Given the description of an element on the screen output the (x, y) to click on. 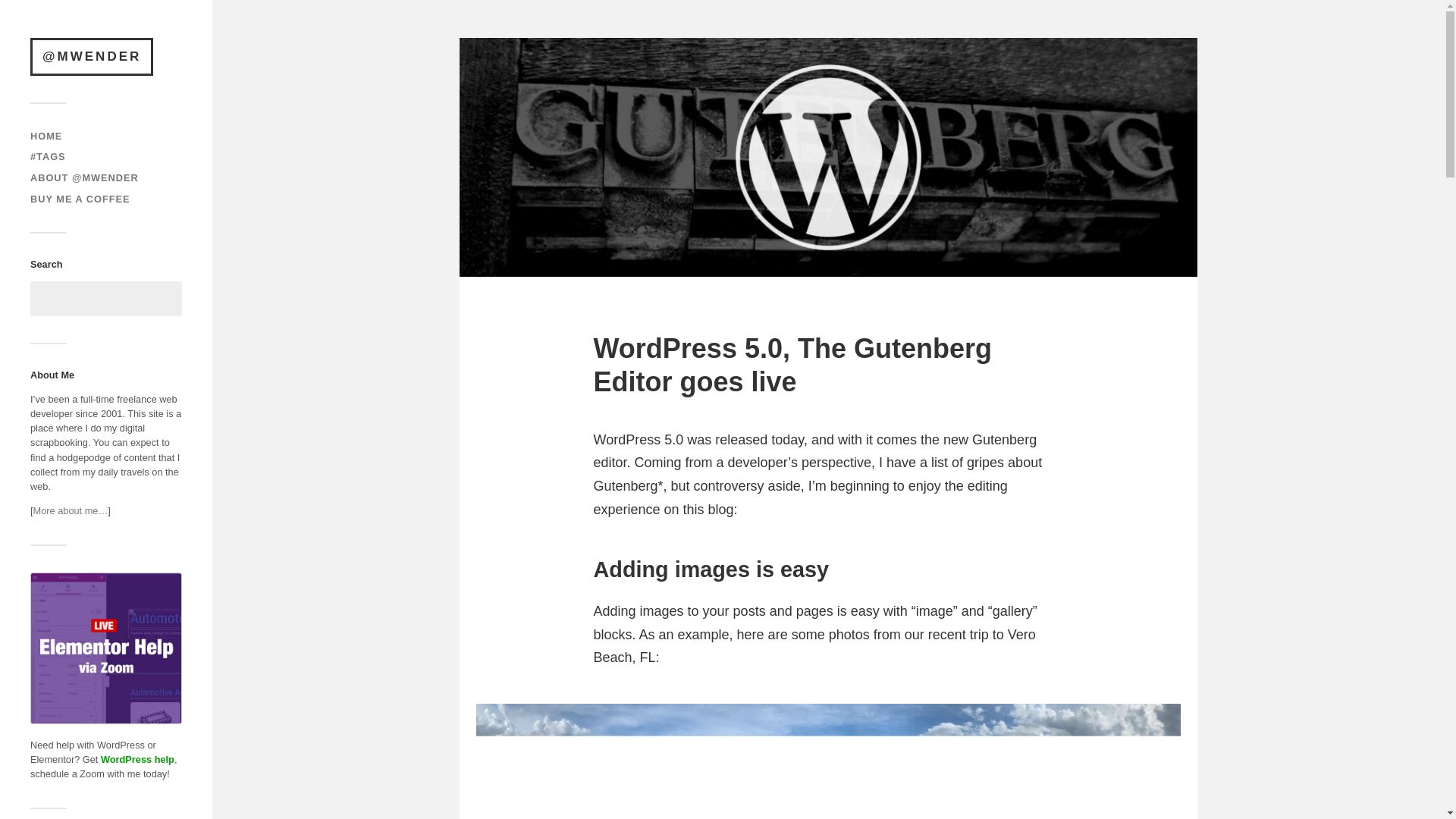
BUY ME A COFFEE (80, 198)
HOME (46, 135)
WordPress help (137, 758)
Search (163, 298)
Search (163, 298)
